Given the description of an element on the screen output the (x, y) to click on. 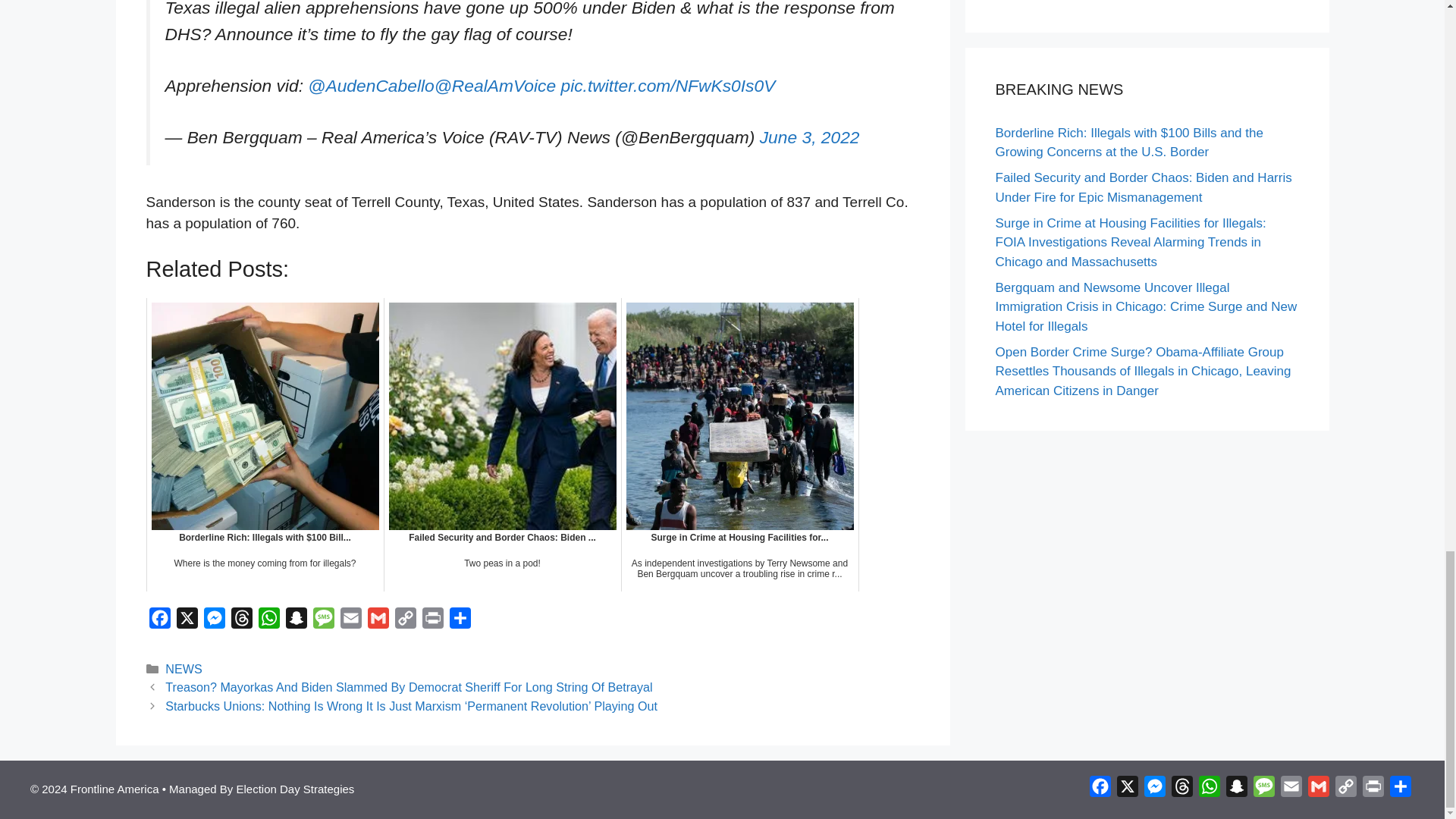
Threads (240, 621)
Email (350, 621)
Facebook (159, 621)
Print (432, 621)
X (186, 621)
Messenger (213, 621)
Messenger (213, 621)
WhatsApp (268, 621)
June 3, 2022 (810, 137)
